Given the description of an element on the screen output the (x, y) to click on. 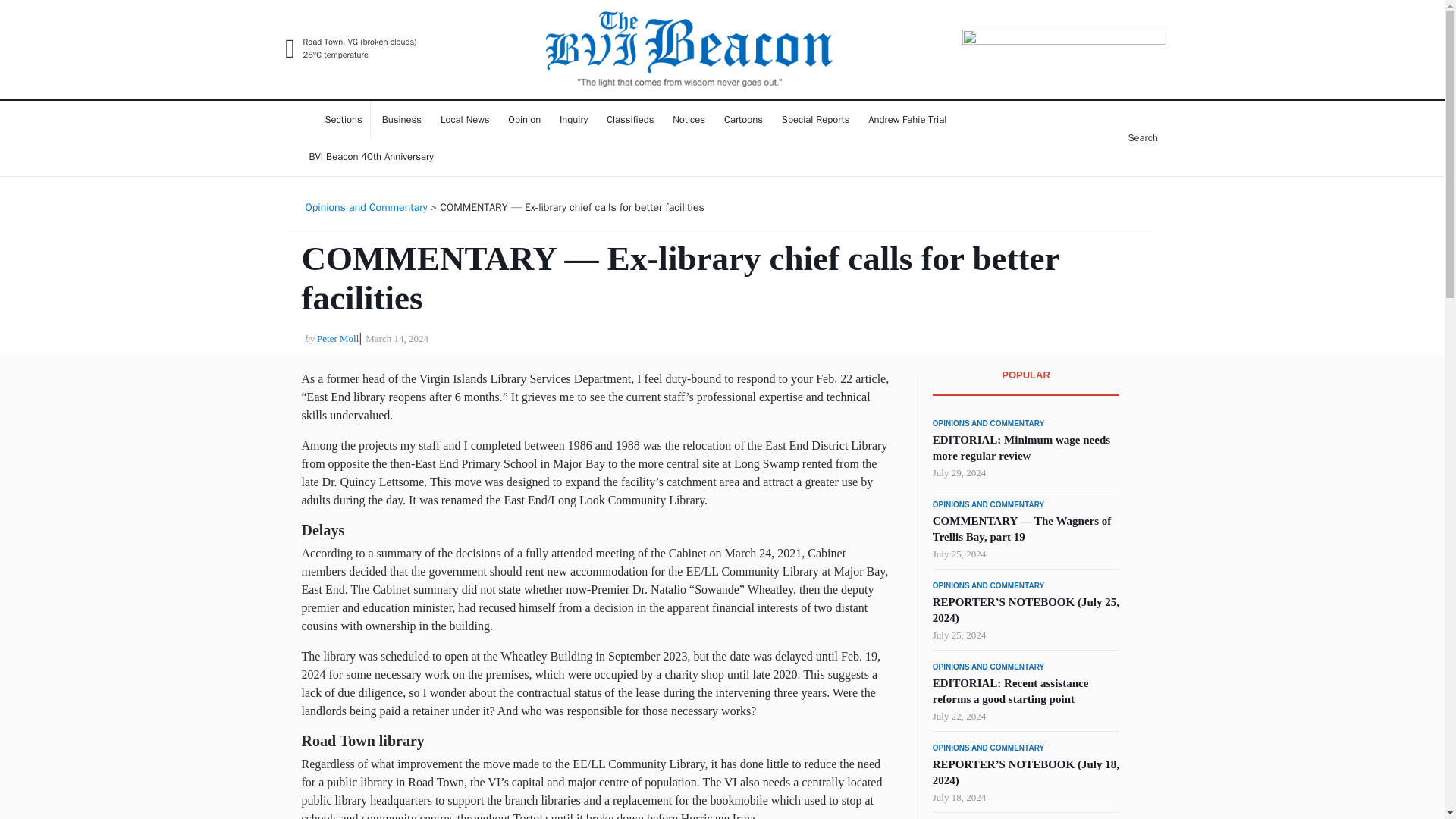
Andrew Fahie Trial (906, 119)
The BVI Beacon (486, 94)
Inquiry (573, 119)
Opinion (524, 119)
EDITORIAL: Minimum wage needs more regular review (1021, 447)
OPINIONS AND COMMENTARY (988, 747)
Peter Moll (337, 337)
Opinions and Commentary (365, 206)
OPINIONS AND COMMENTARY (988, 585)
Notices (689, 119)
Sections (336, 119)
Business (401, 119)
Cartoons (743, 119)
OPINIONS AND COMMENTARY (988, 504)
BVI Beacon 40th Anniversary (371, 157)
